Given the description of an element on the screen output the (x, y) to click on. 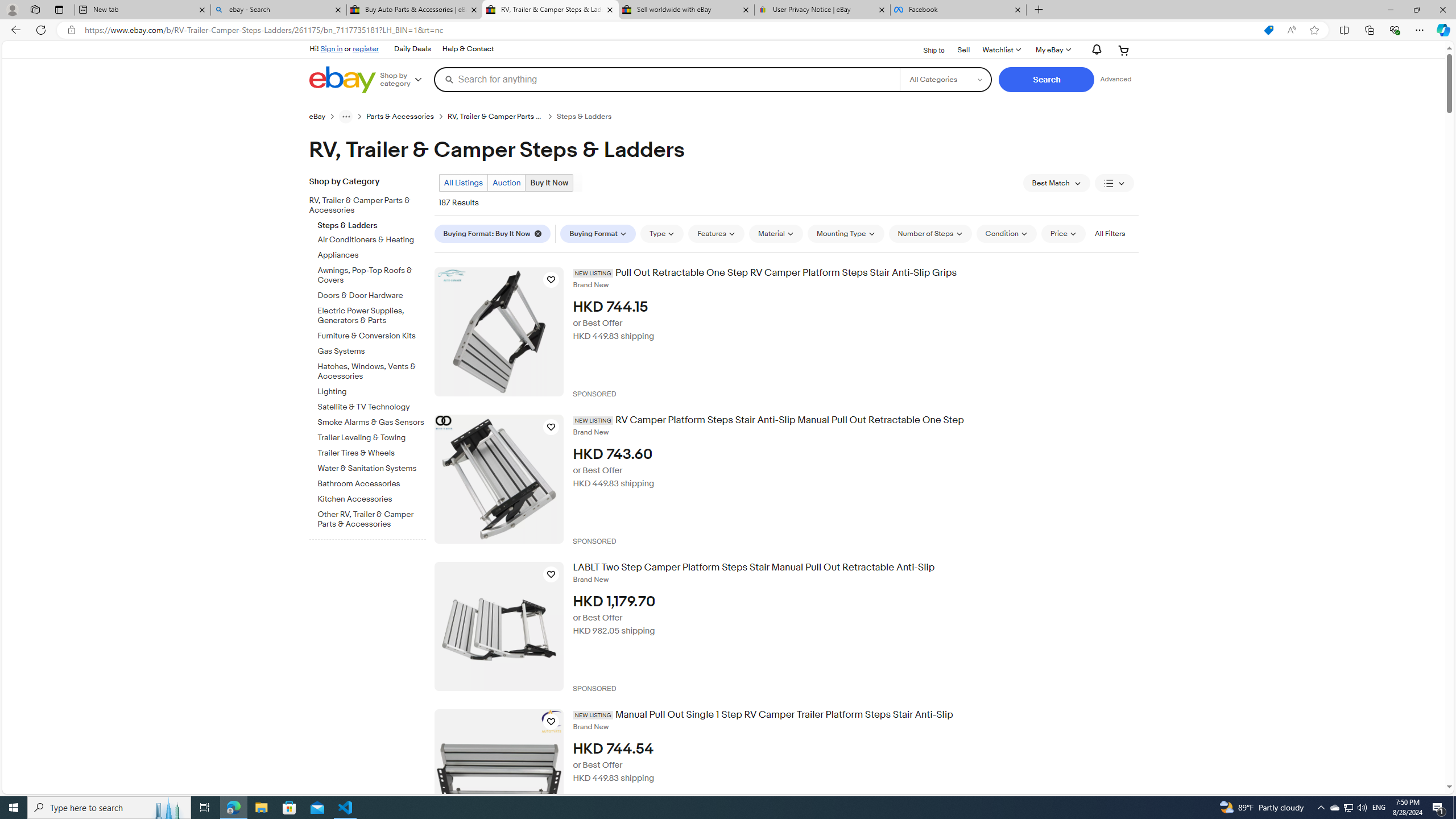
All Filters (1109, 233)
Help & Contact (467, 49)
Search for anything (666, 78)
Satellite & TV Technology (371, 407)
Condition (1005, 233)
Doors & Door Hardware (371, 295)
Awnings, Pop-Top Roofs & Covers (371, 273)
Ship to (926, 50)
register (366, 48)
Buying Format: Buy It Now- Remove Filter (494, 233)
Daily Deals (412, 49)
